Given the description of an element on the screen output the (x, y) to click on. 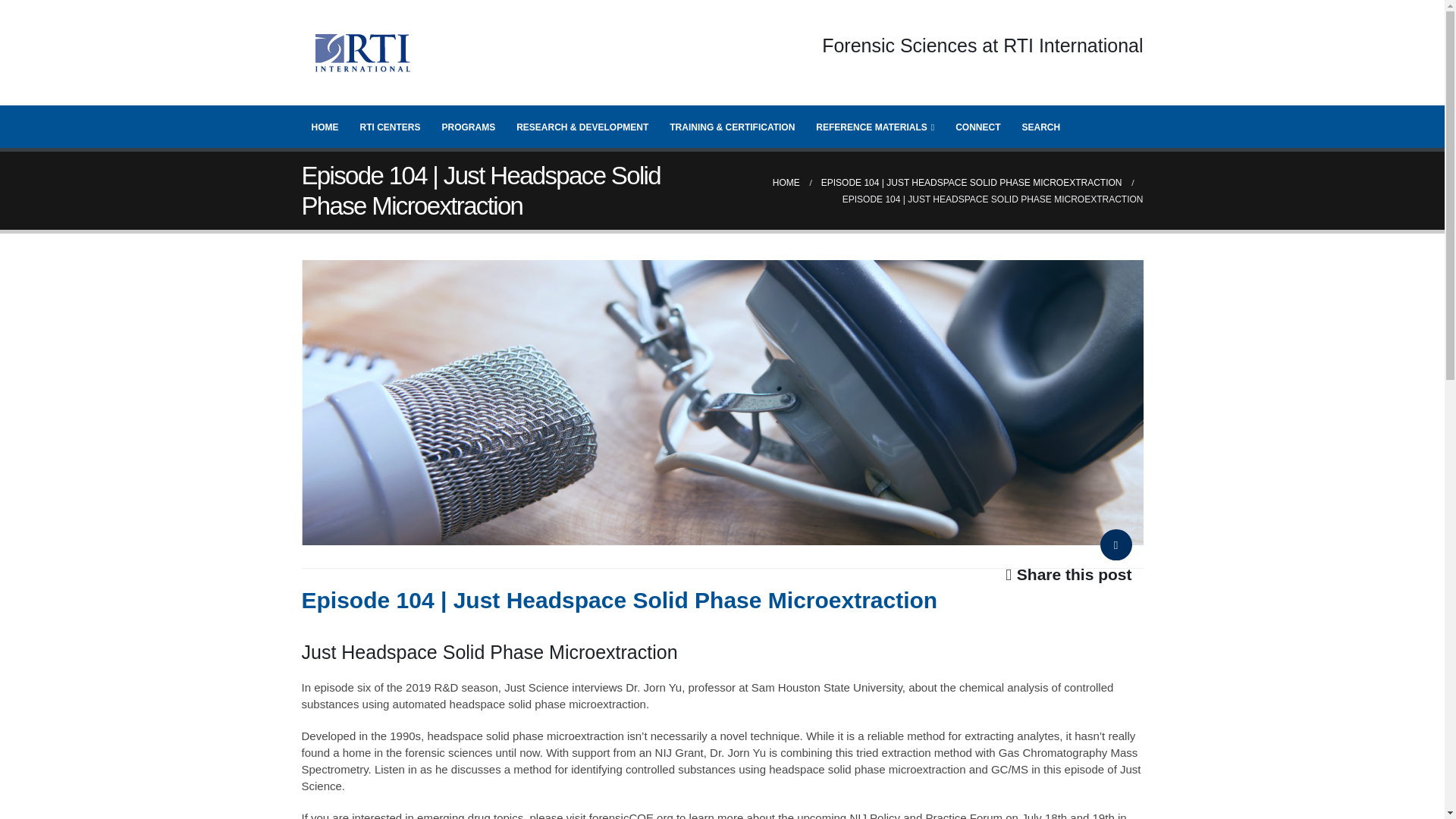
PROGRAMS (468, 126)
ForensicRTI -  (362, 52)
Facebook (1114, 549)
SEARCH (1040, 126)
Go to Home Page (786, 182)
Facebook (1114, 549)
HOME (325, 126)
RTI CENTERS (390, 126)
CONNECT (977, 126)
REFERENCE MATERIALS (874, 126)
